Given the description of an element on the screen output the (x, y) to click on. 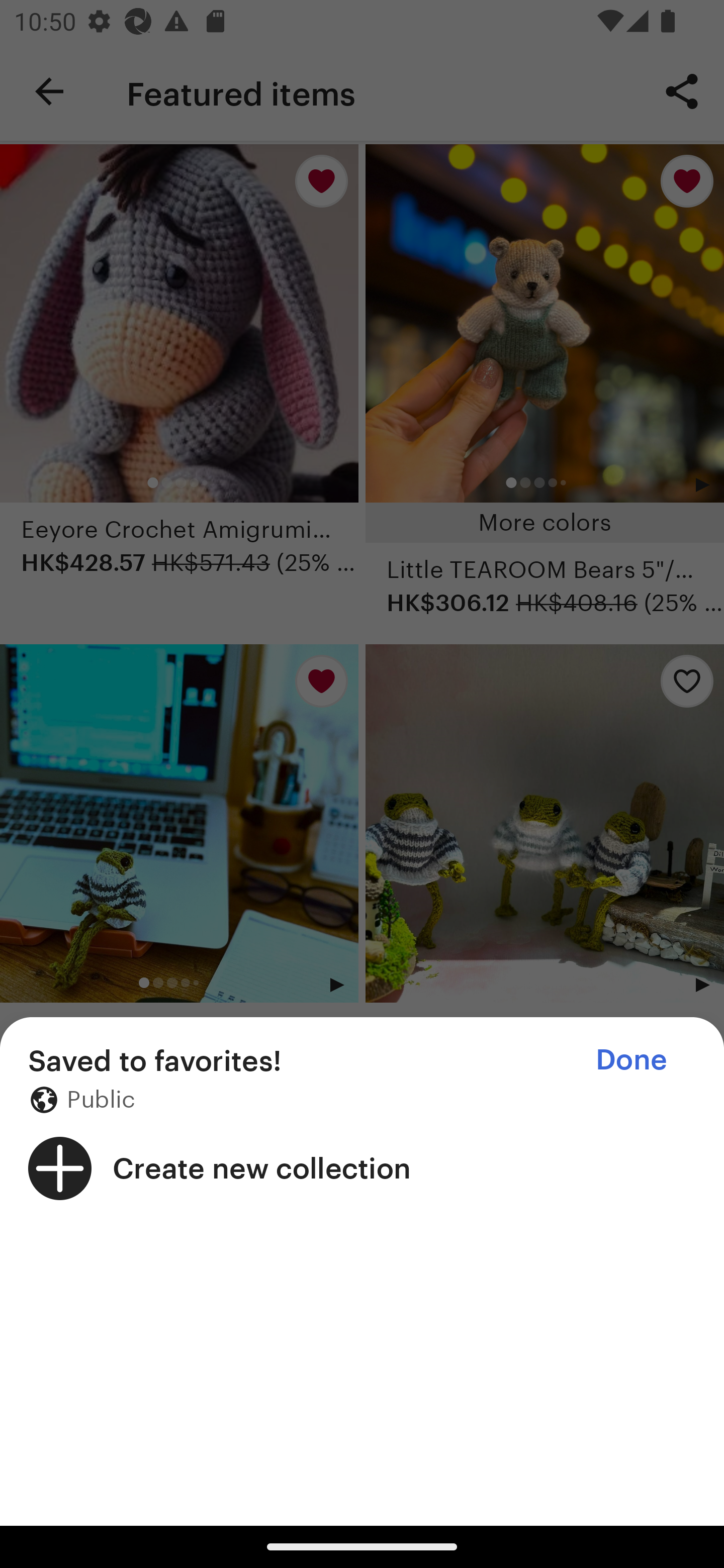
Done (630, 1059)
Create new collection (361, 1167)
